Given the description of an element on the screen output the (x, y) to click on. 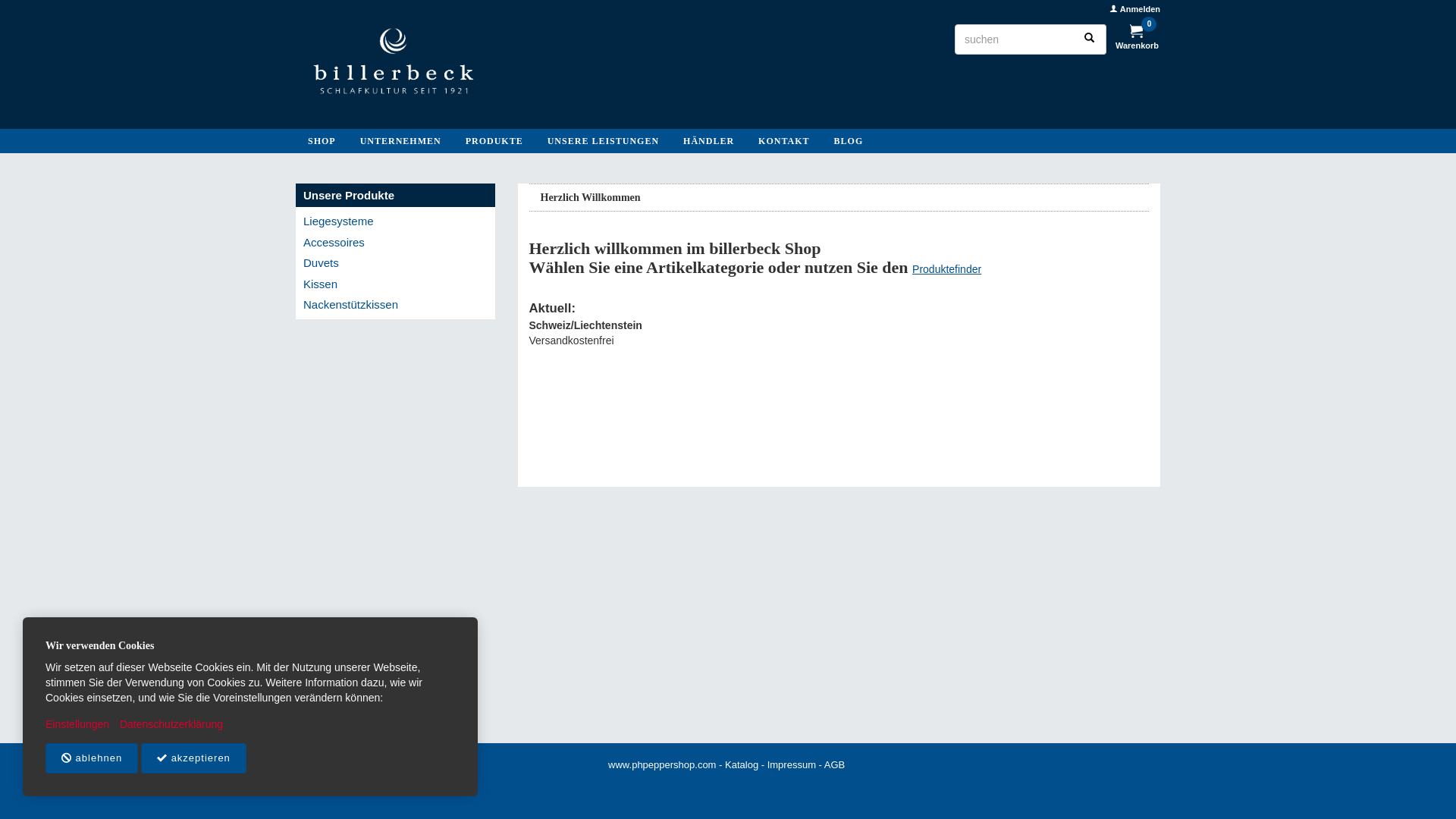
UNTERNEHMEN Element type: text (400, 140)
BLOG Element type: text (848, 140)
Einstellungen Element type: text (77, 723)
Impressum Element type: text (791, 764)
www.phpeppershop.com Element type: text (661, 764)
Duvets Element type: text (395, 262)
ablehnen Element type: text (91, 758)
0 Element type: text (1136, 32)
Warenkorb Element type: text (1136, 46)
Liegesysteme Element type: text (395, 221)
Accessoires Element type: text (395, 242)
Produktefinder Element type: text (946, 269)
Anmelden Element type: text (1134, 8)
KONTAKT Element type: text (783, 140)
akzeptieren Element type: text (193, 758)
Katalog Element type: text (741, 764)
SHOP Element type: text (321, 140)
PRODUKTE Element type: text (494, 140)
AGB Element type: text (834, 764)
UNSERE LEISTUNGEN Element type: text (603, 140)
Kissen Element type: text (395, 283)
